Given the description of an element on the screen output the (x, y) to click on. 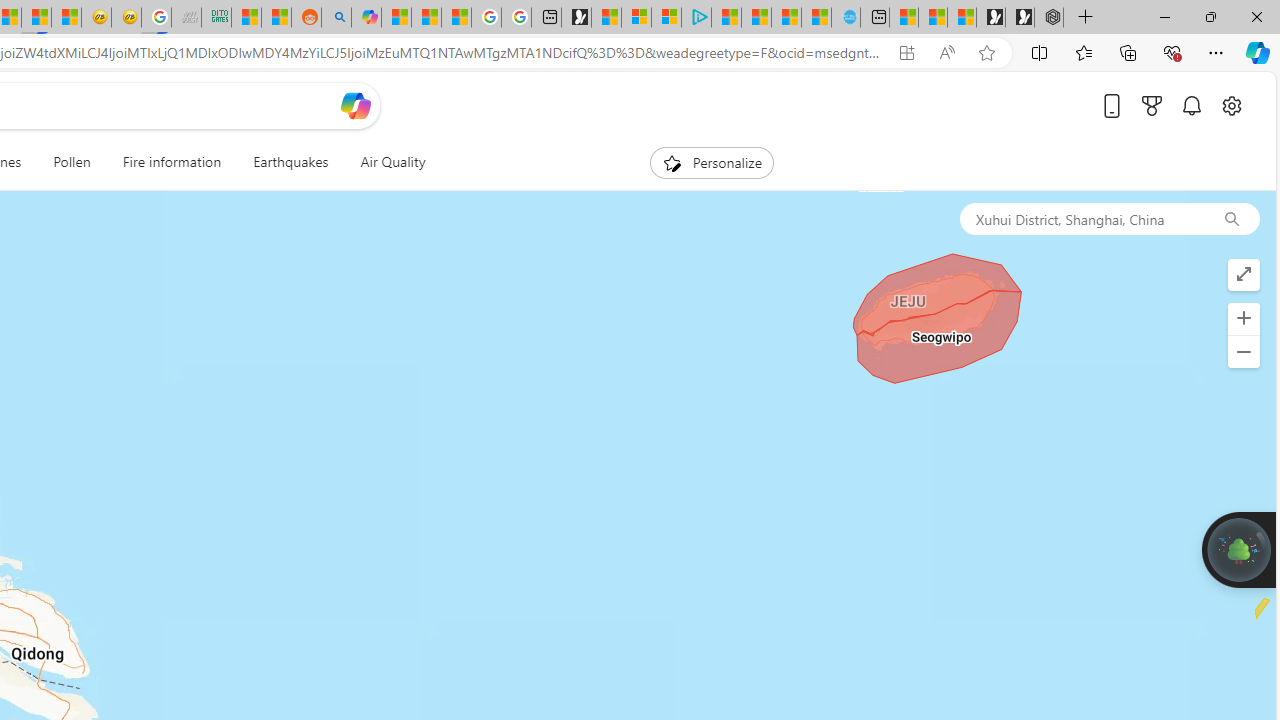
Join us in planting real trees to help our planet! (1239, 549)
Xuhui District, Shanghai, China (1081, 218)
Earthquakes (290, 162)
Fire information (171, 162)
Pollen (72, 162)
